Given the description of an element on the screen output the (x, y) to click on. 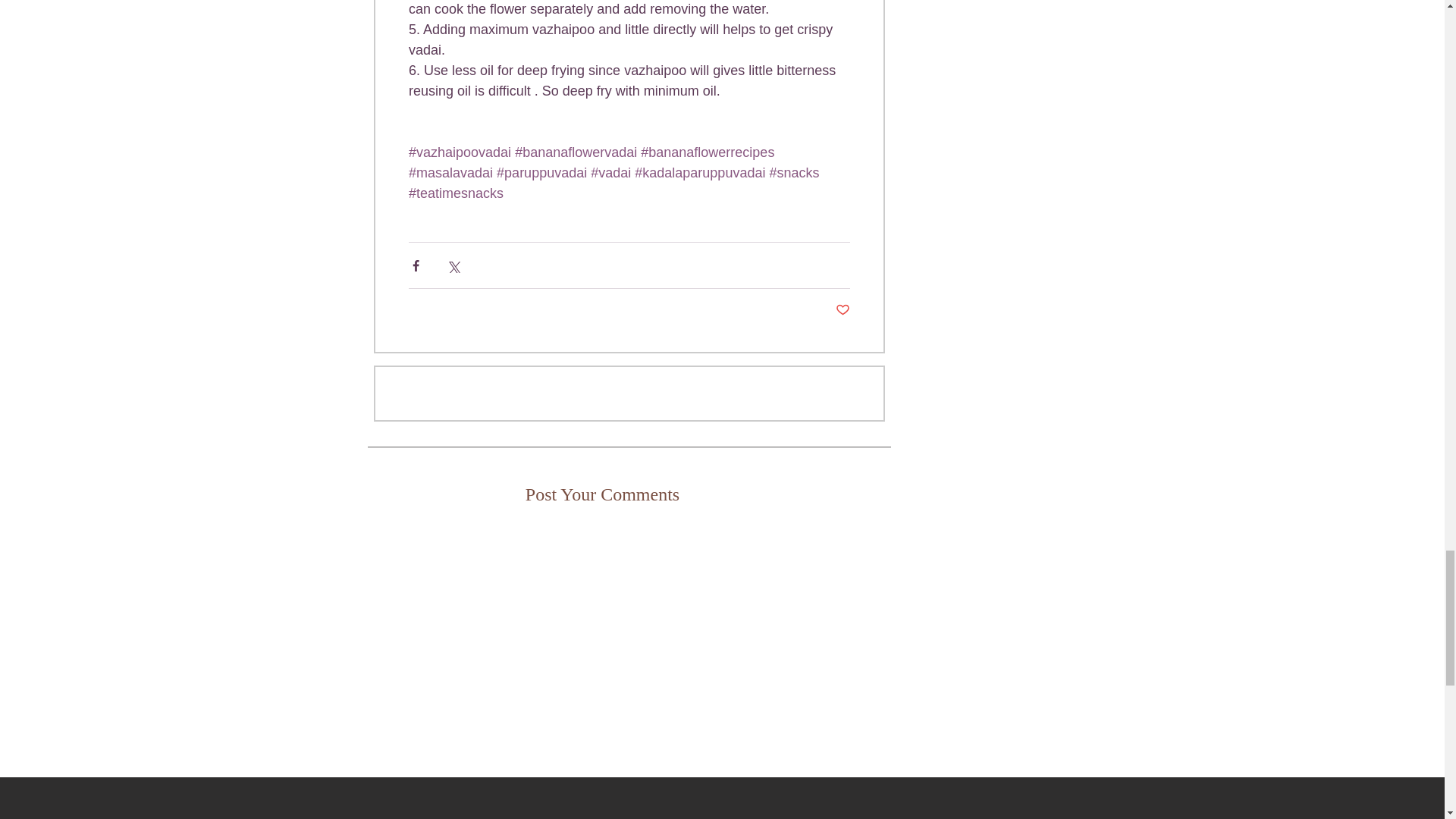
Post not marked as liked (842, 310)
